Given the description of an element on the screen output the (x, y) to click on. 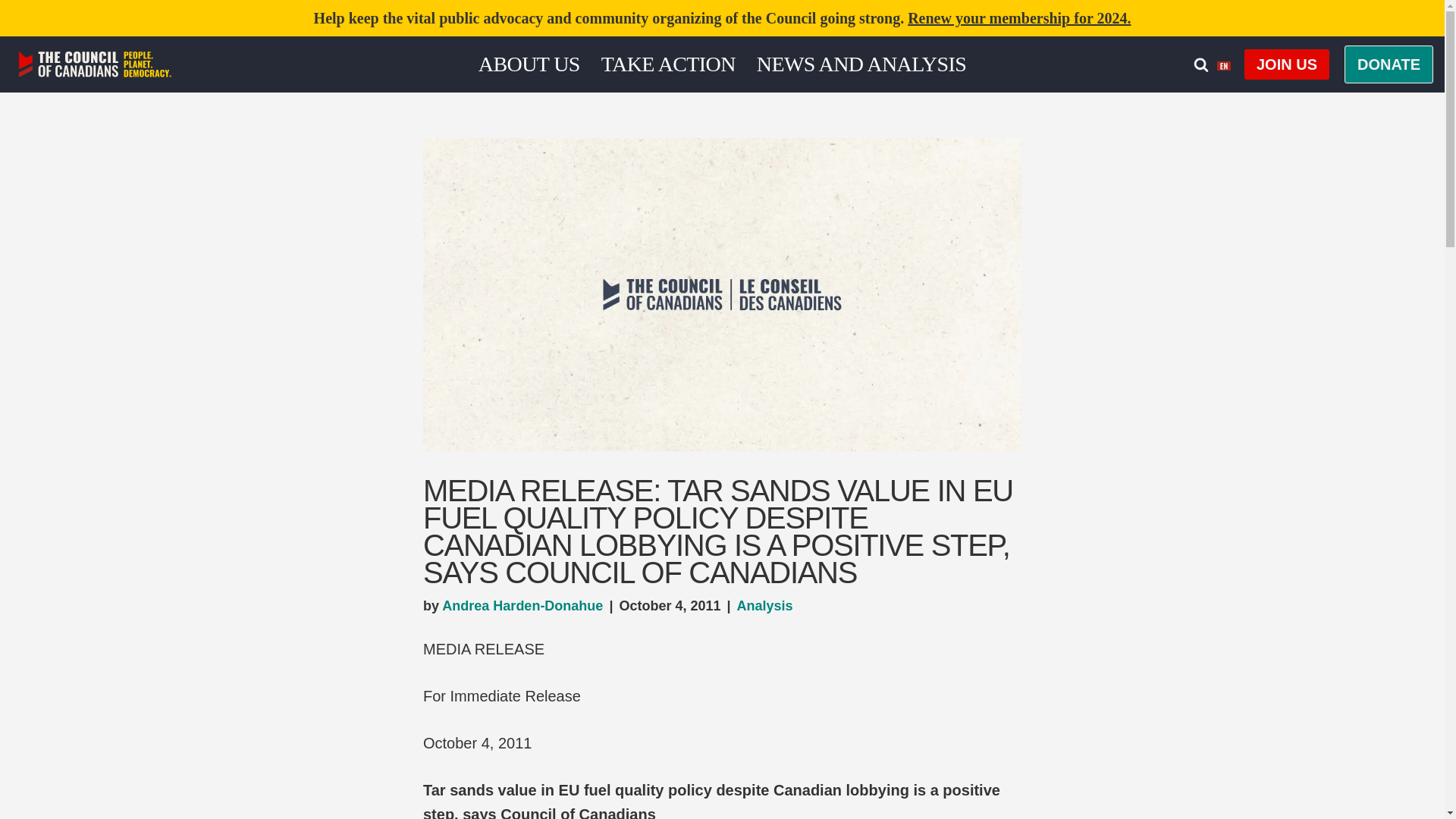
JOIN US (1286, 64)
NEWS AND ANALYSIS (861, 63)
ABOUT US (529, 63)
Renew your membership for 2024. (1019, 17)
DONATE (1387, 64)
Andrea Harden-Donahue (522, 605)
TAKE ACTION (668, 63)
Posts by Andrea Harden-Donahue (522, 605)
Skip to content (11, 31)
Analysis (764, 605)
